Given the description of an element on the screen output the (x, y) to click on. 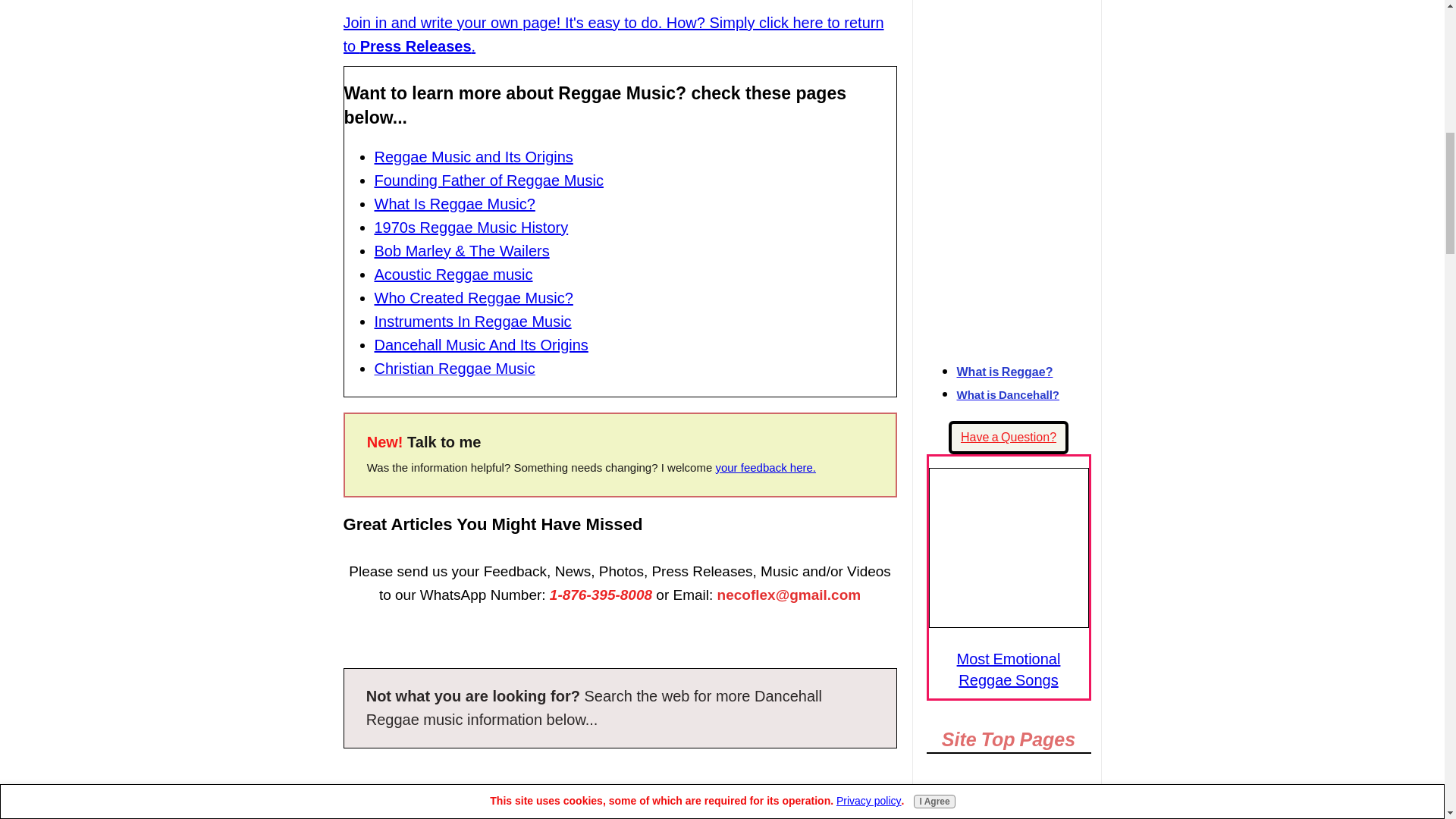
Go to Most Emotional Reggae Songs (1007, 622)
Reggae Music and Its Origins (473, 156)
Who Created Reggae Music? (473, 297)
Home (1008, 796)
Founding Father of Reggae Music (489, 180)
Instruments In Reggae Music (473, 321)
1970s Reggae Music History (471, 227)
Have a Question? (1008, 437)
Dancehall Music And Its Origins (481, 344)
